Given the description of an element on the screen output the (x, y) to click on. 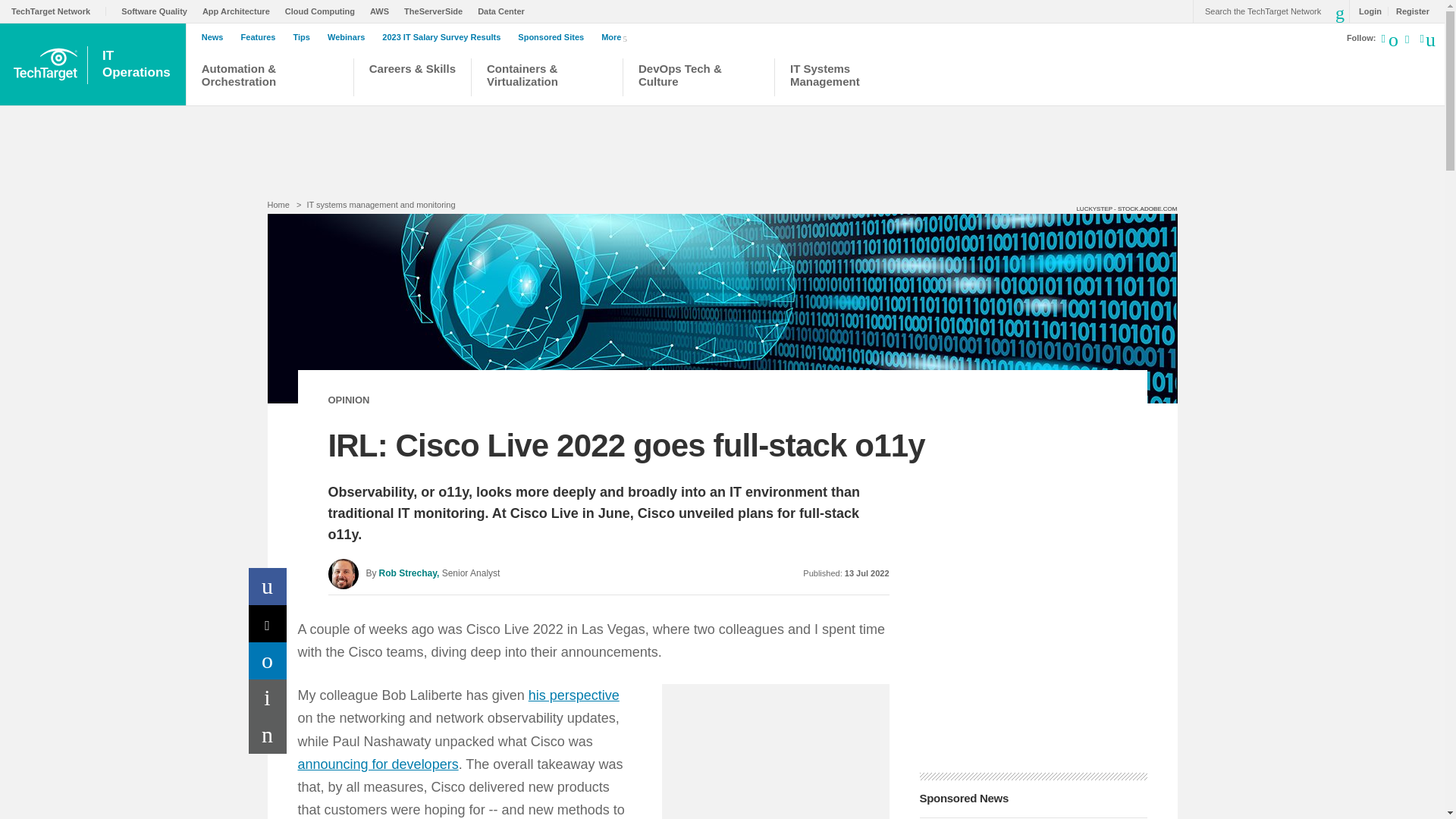
Tips (304, 36)
More (617, 36)
Cloud Computing (323, 10)
Software Quality (157, 10)
Share on X (267, 623)
2023 IT Salary Survey Results (444, 36)
Login (1366, 10)
Register (1408, 10)
TheServerSide (437, 10)
Print This Page (267, 697)
